Given the description of an element on the screen output the (x, y) to click on. 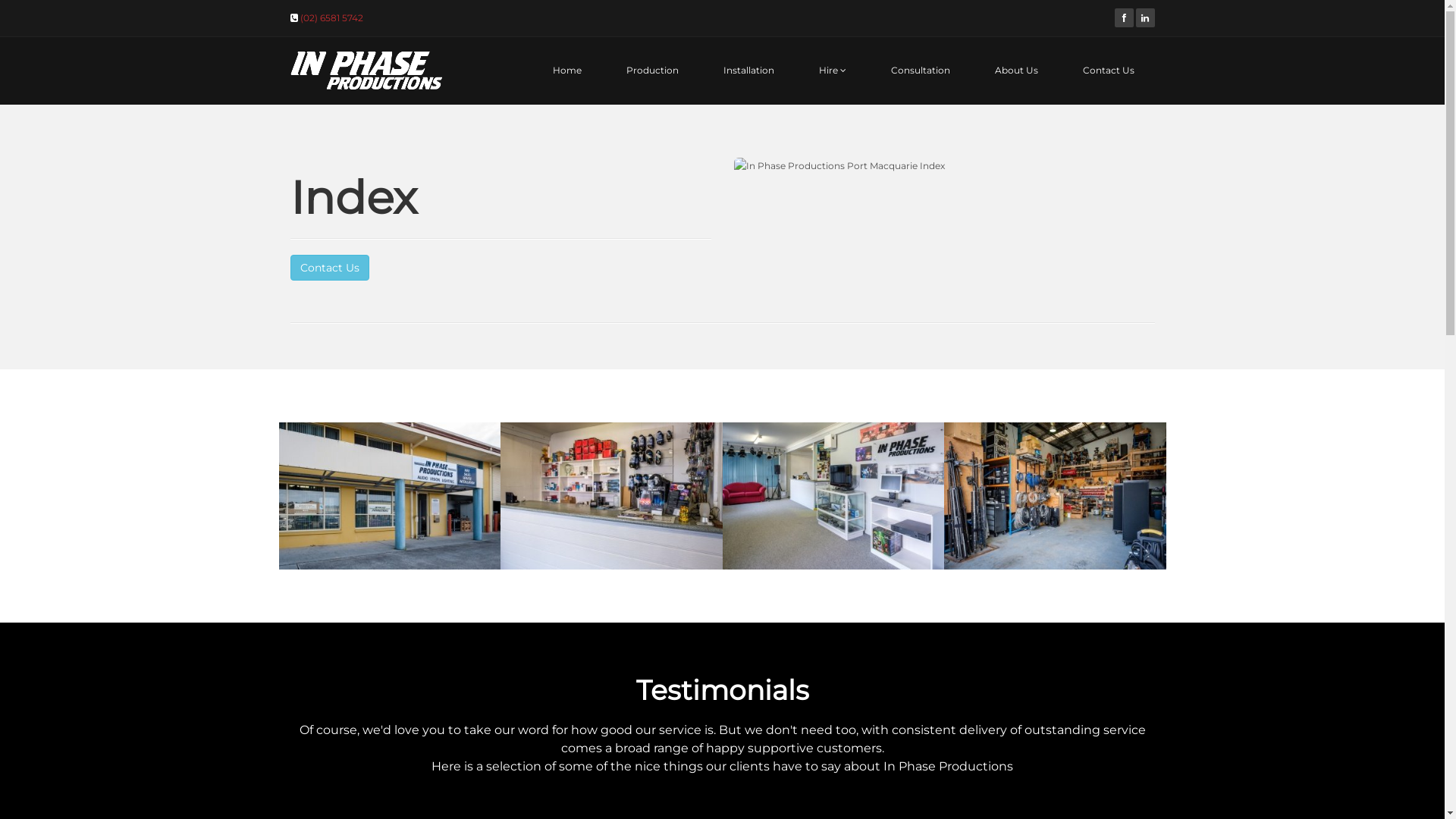
Home Element type: text (565, 70)
Consultation Element type: text (919, 70)
(02) 6581 5742 Element type: text (331, 17)
Installation Element type: text (748, 70)
Production Element type: text (652, 70)
Hire Element type: text (832, 70)
About Us Element type: text (1016, 70)
Contact Us Element type: text (328, 267)
Contact Us Element type: text (1108, 70)
